Given the description of an element on the screen output the (x, y) to click on. 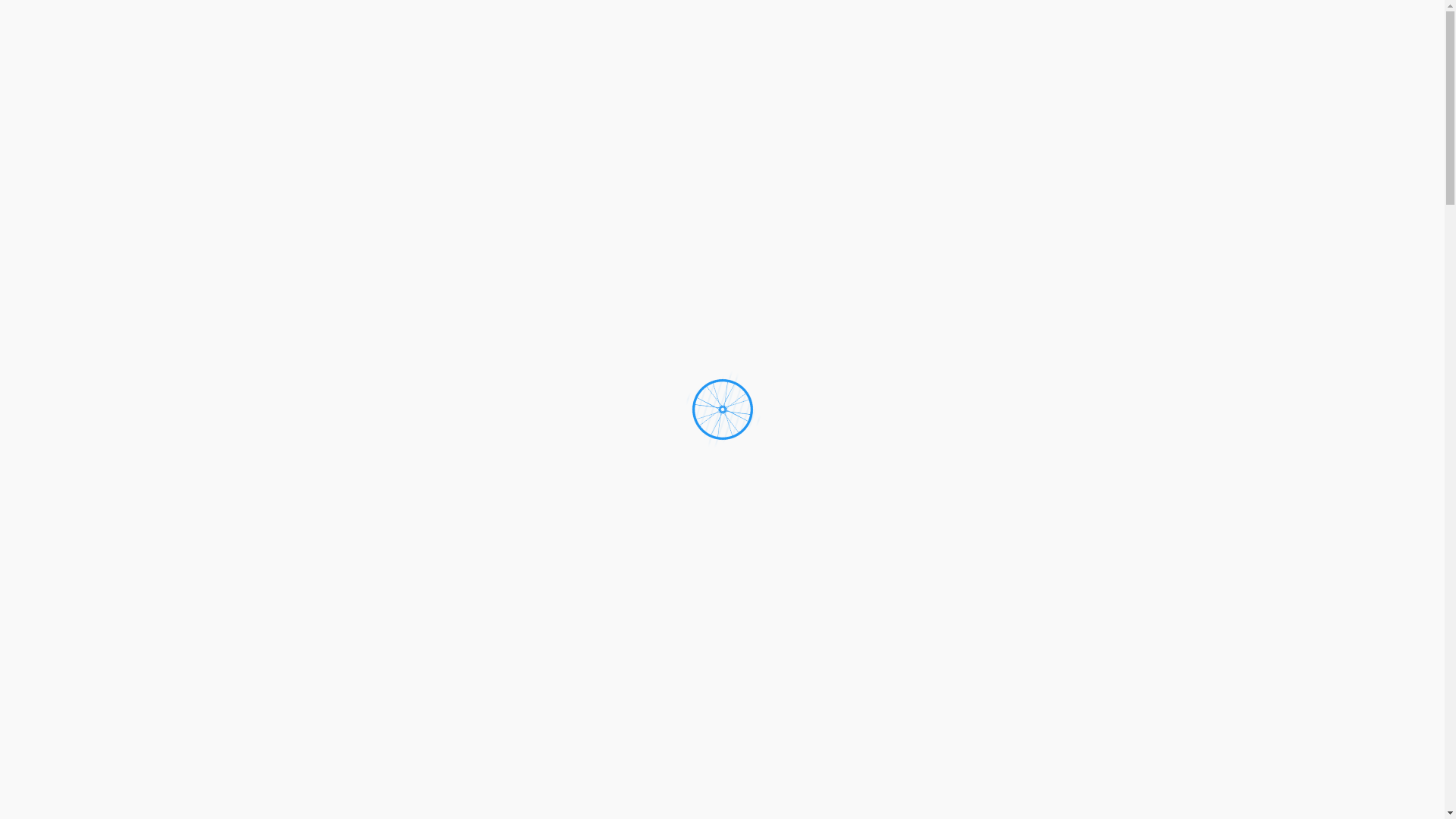
KONTAKT Element type: text (1129, 73)
SERVICE Element type: text (1001, 73)
HOME Element type: text (938, 73)
TEAM Element type: text (1063, 73)
